Given the description of an element on the screen output the (x, y) to click on. 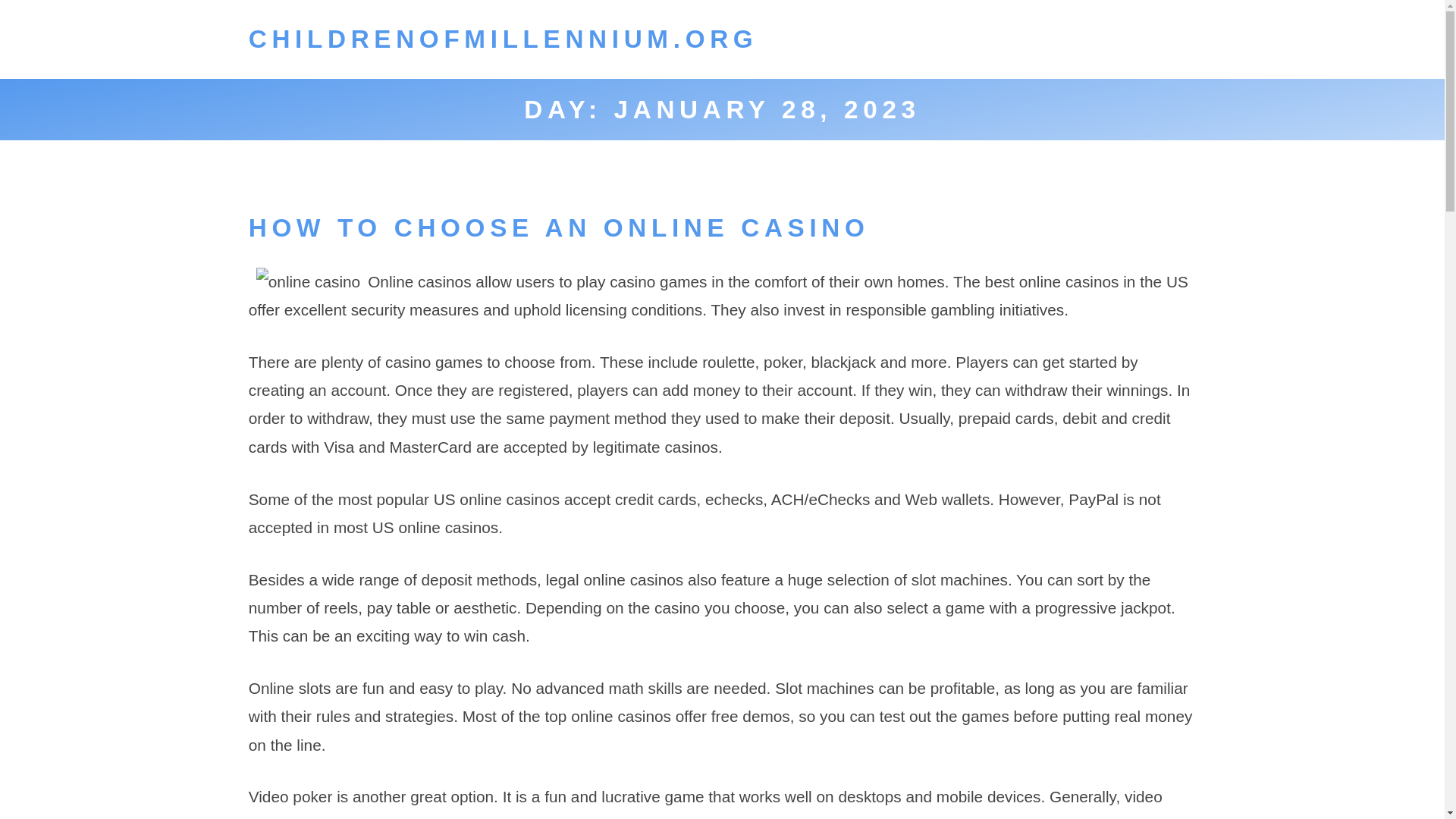
CHILDRENOFMILLENNIUM.ORG (503, 39)
HOW TO CHOOSE AN ONLINE CASINO (558, 227)
